Given the description of an element on the screen output the (x, y) to click on. 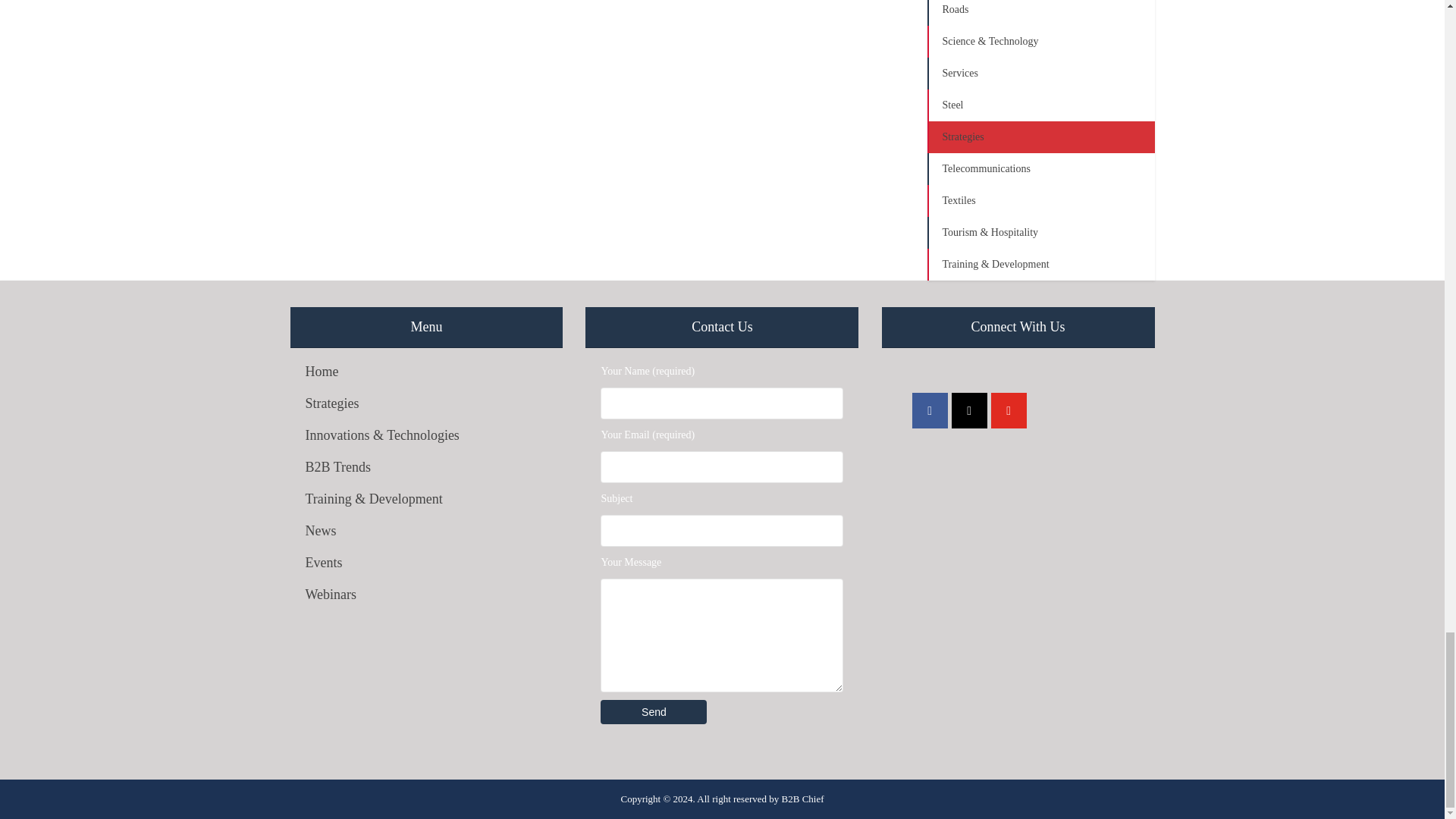
YouTube (1008, 410)
Instagram (969, 410)
Send (652, 711)
Facebook (929, 410)
